Given the description of an element on the screen output the (x, y) to click on. 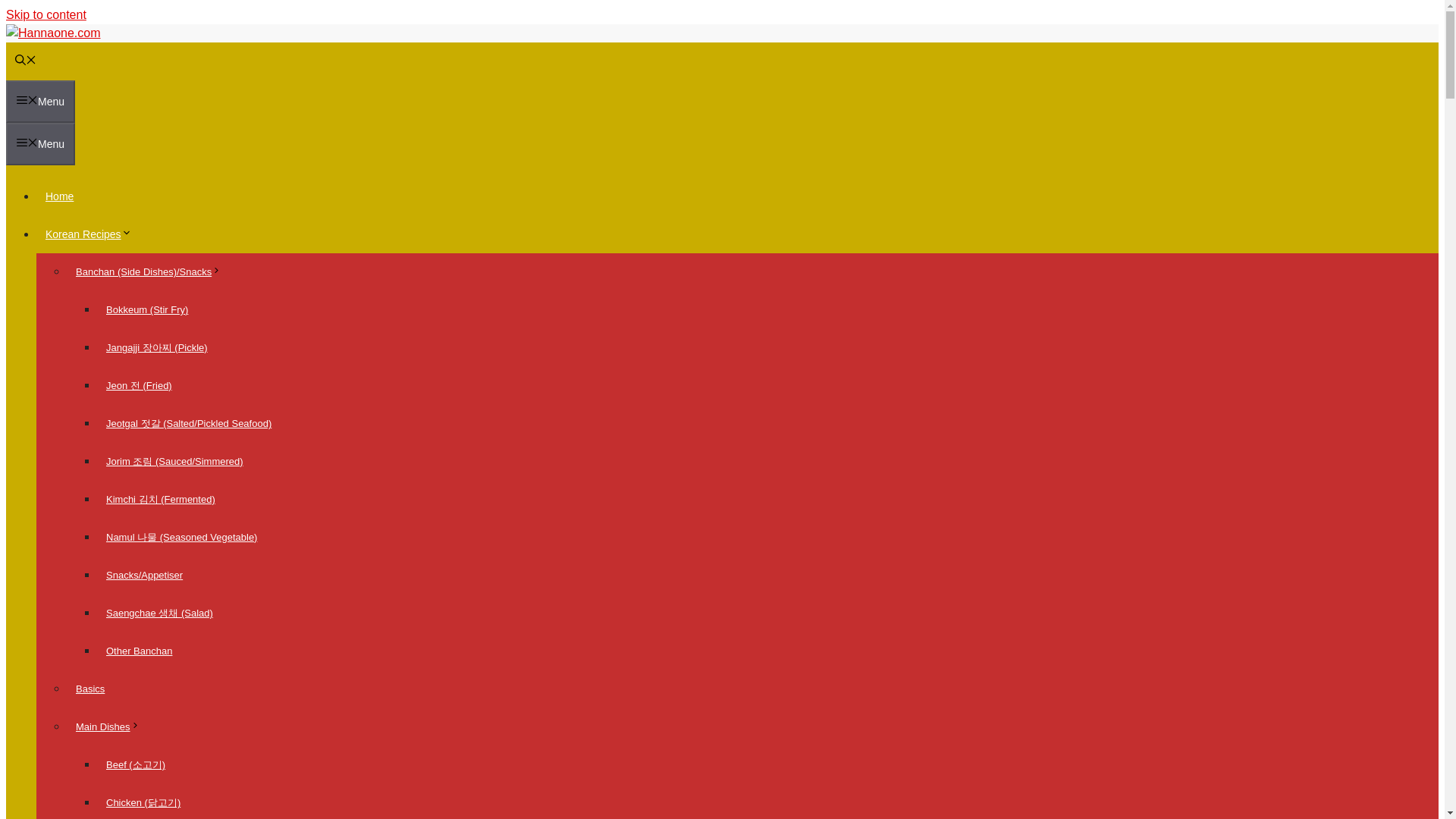
Home (59, 196)
Skip to content (45, 14)
Korean Recipes (92, 234)
Menu (40, 101)
Main Dishes (112, 726)
Menu (40, 143)
Skip to content (45, 14)
Other Banchan (138, 651)
Basics (89, 688)
